Given the description of an element on the screen output the (x, y) to click on. 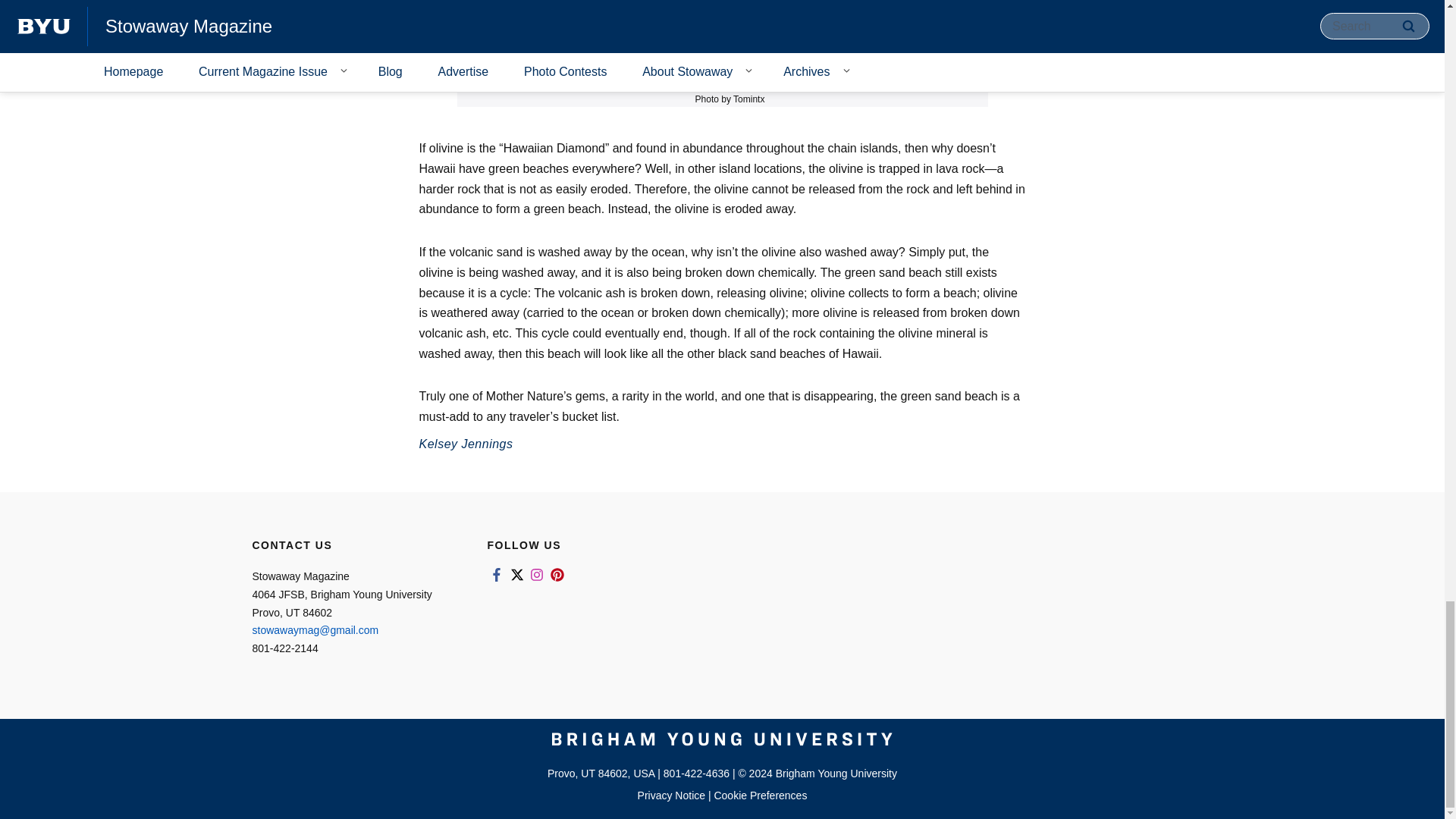
Link to instagram (536, 574)
Link to twitter (515, 574)
Link to facebook (495, 574)
Link to pinterest (557, 574)
